Given the description of an element on the screen output the (x, y) to click on. 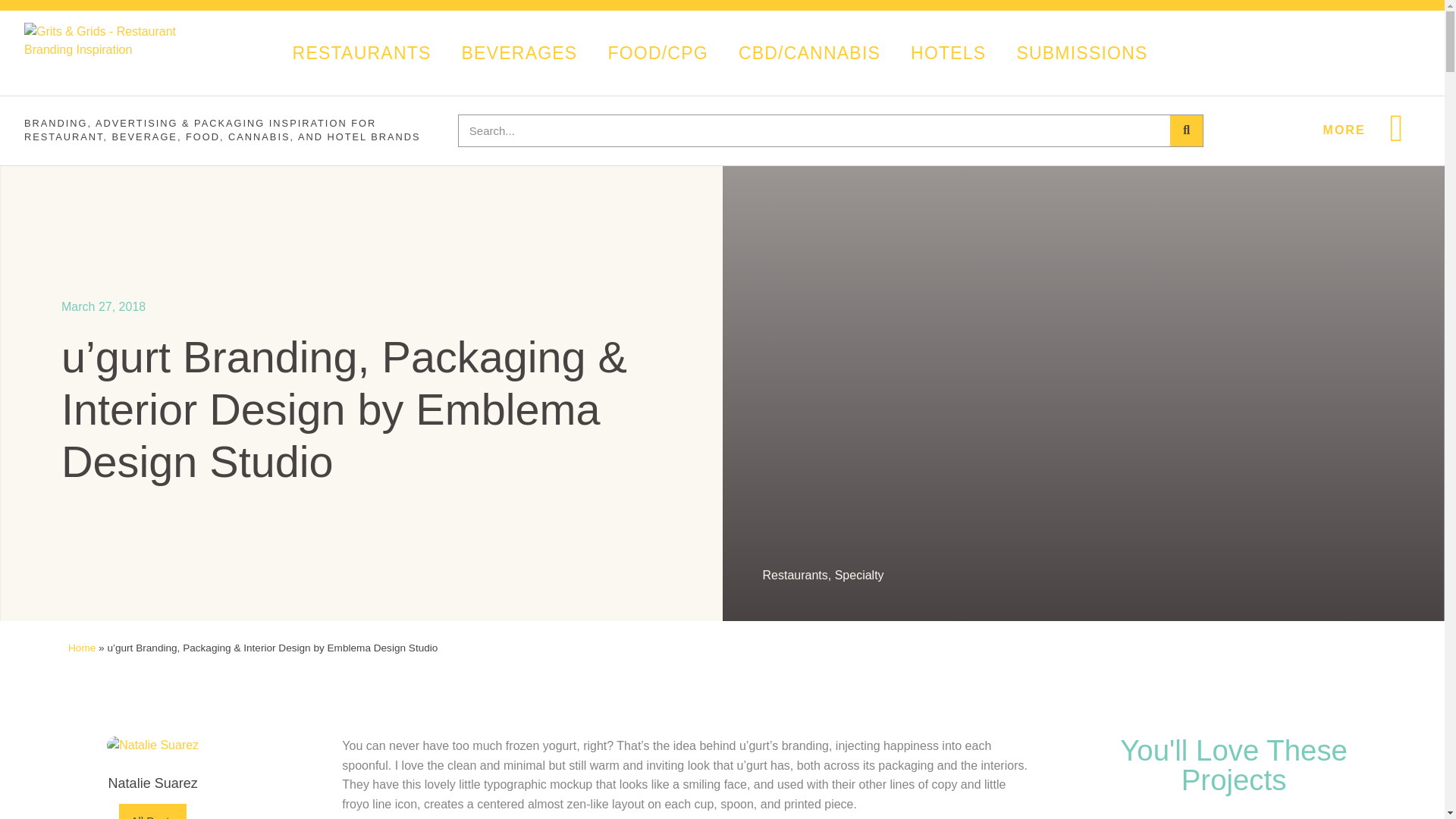
Specialty (858, 574)
Natalie Suarez (152, 783)
March 27, 2018 (103, 307)
Home (82, 647)
All Posts (152, 811)
SUBMISSIONS (1081, 52)
BEVERAGES (519, 52)
Restaurants (795, 574)
RESTAURANTS (362, 52)
HOTELS (948, 52)
